Given the description of an element on the screen output the (x, y) to click on. 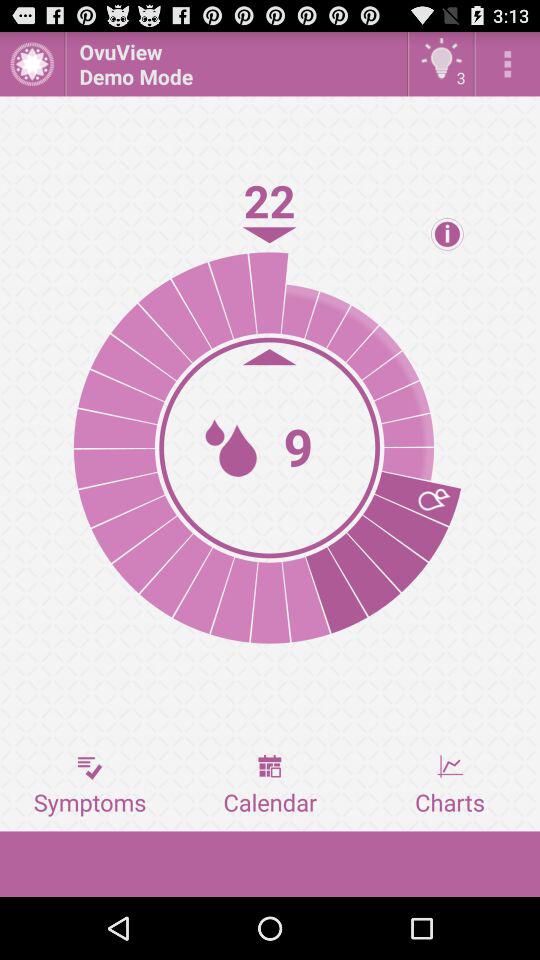
open item at the bottom left corner (90, 785)
